Given the description of an element on the screen output the (x, y) to click on. 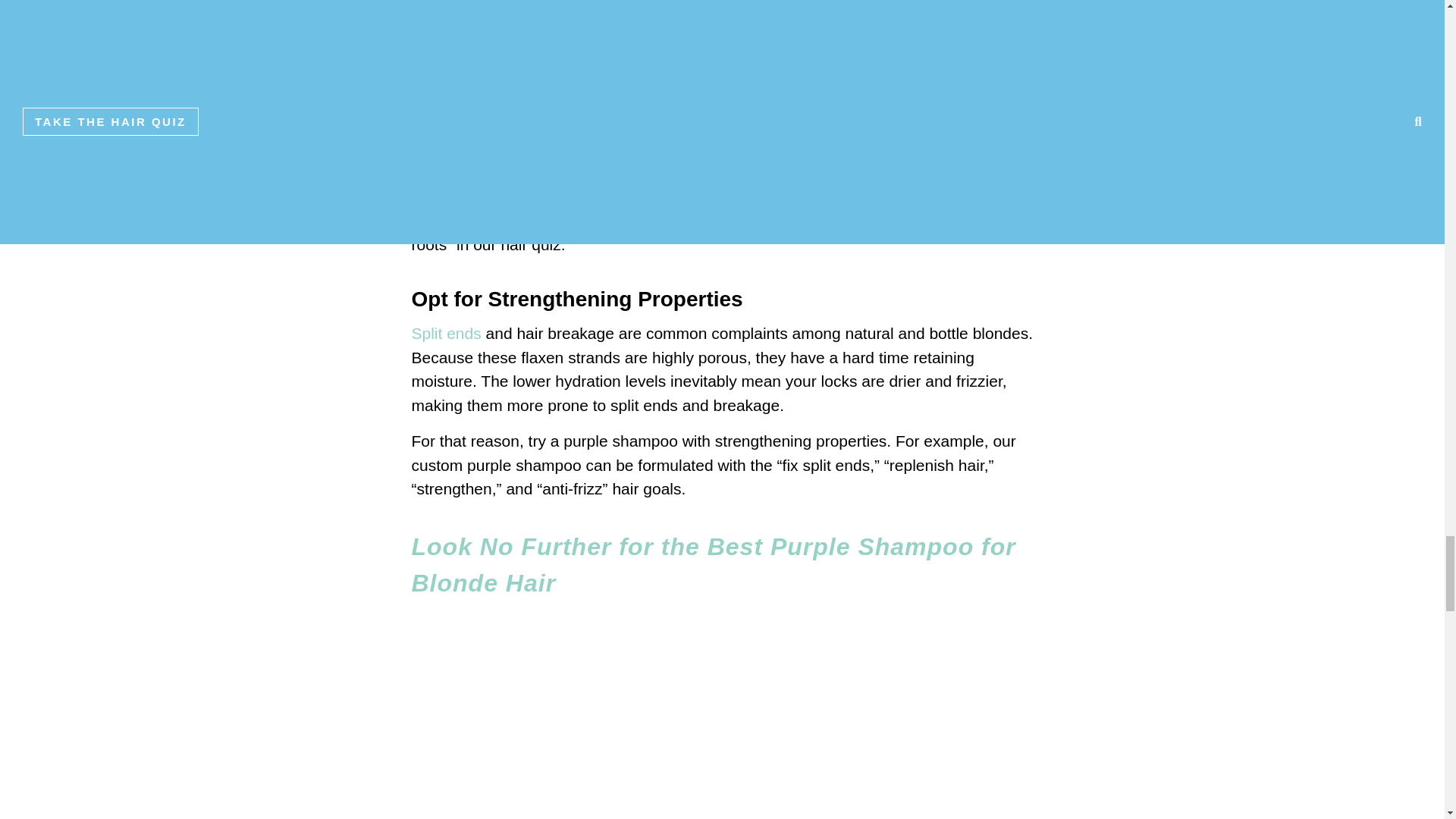
Split ends (445, 333)
